Given the description of an element on the screen output the (x, y) to click on. 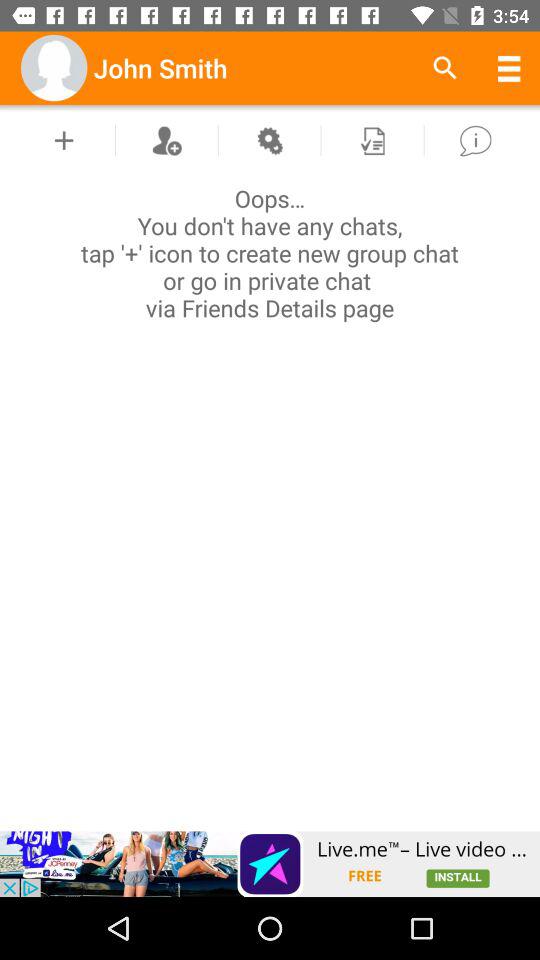
go to add button (63, 140)
